Given the description of an element on the screen output the (x, y) to click on. 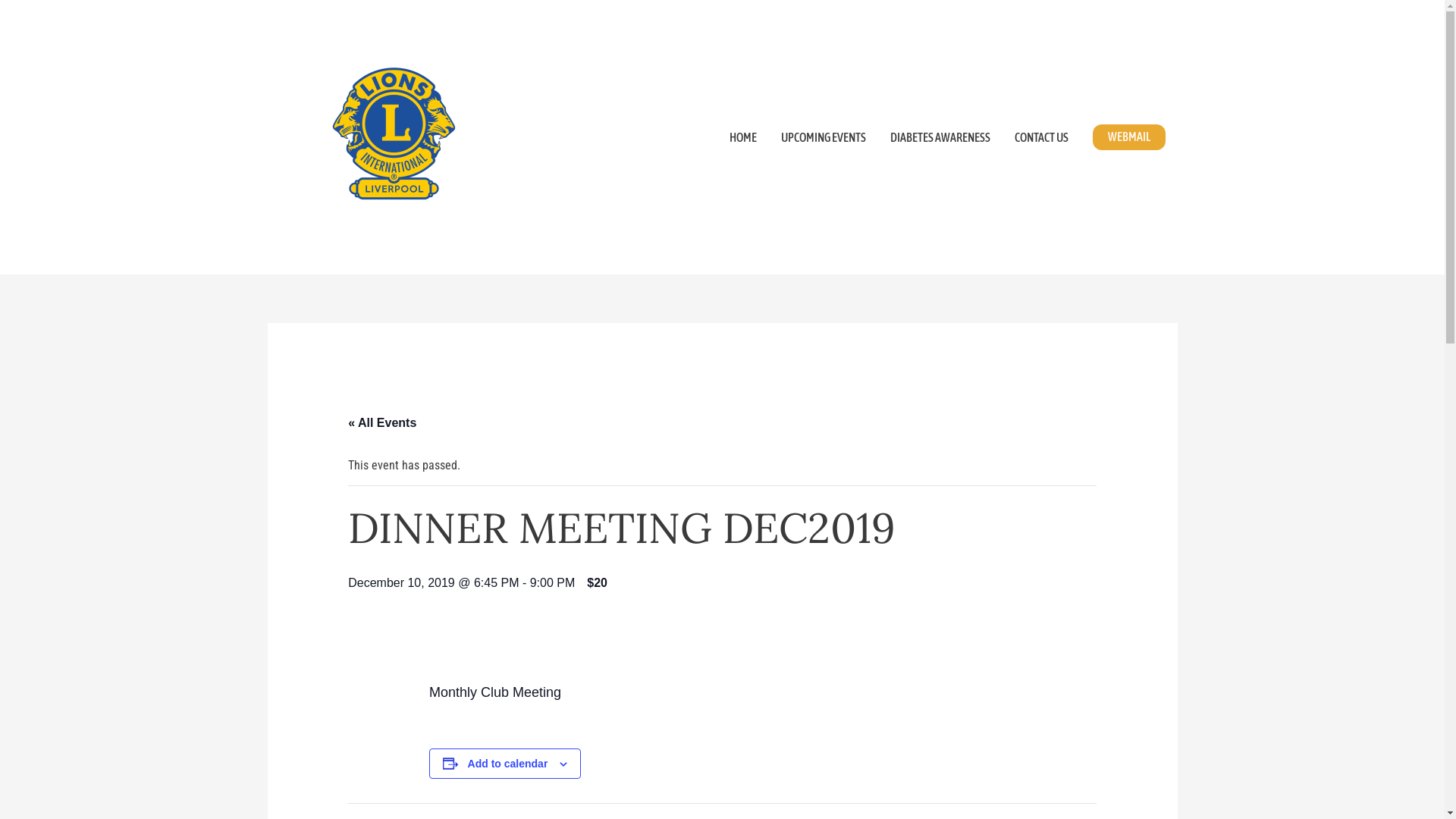
DIABETES AWARENESS Element type: text (940, 136)
HOME Element type: text (742, 136)
UPCOMING EVENTS Element type: text (823, 136)
CONTACT US Element type: text (1041, 136)
Add to calendar Element type: text (507, 763)
WEBMAIL Element type: text (1128, 137)
